Given the description of an element on the screen output the (x, y) to click on. 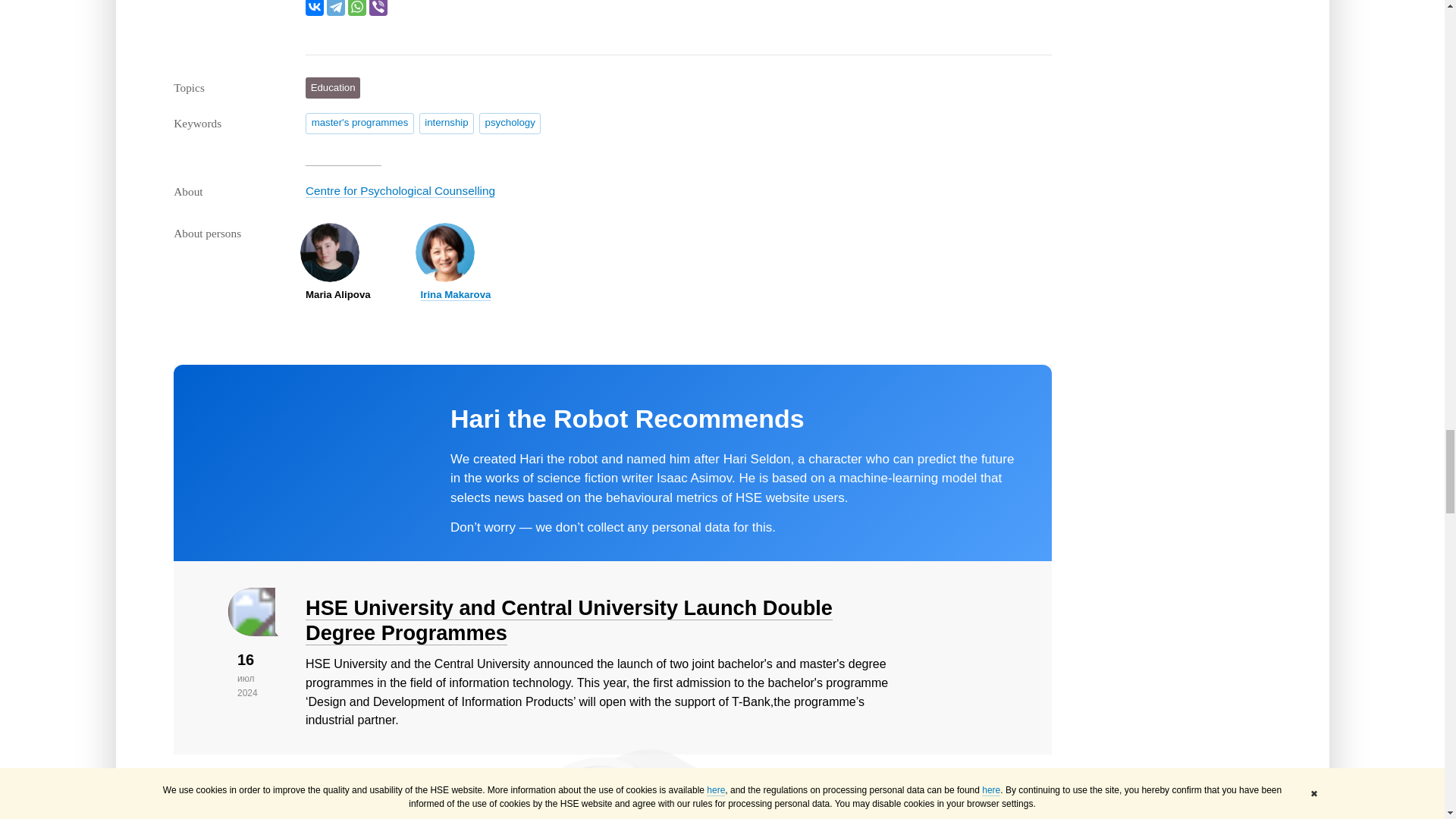
Telegram (335, 7)
WhatsApp (356, 7)
VKontakte (314, 7)
Viber (378, 7)
